Given the description of an element on the screen output the (x, y) to click on. 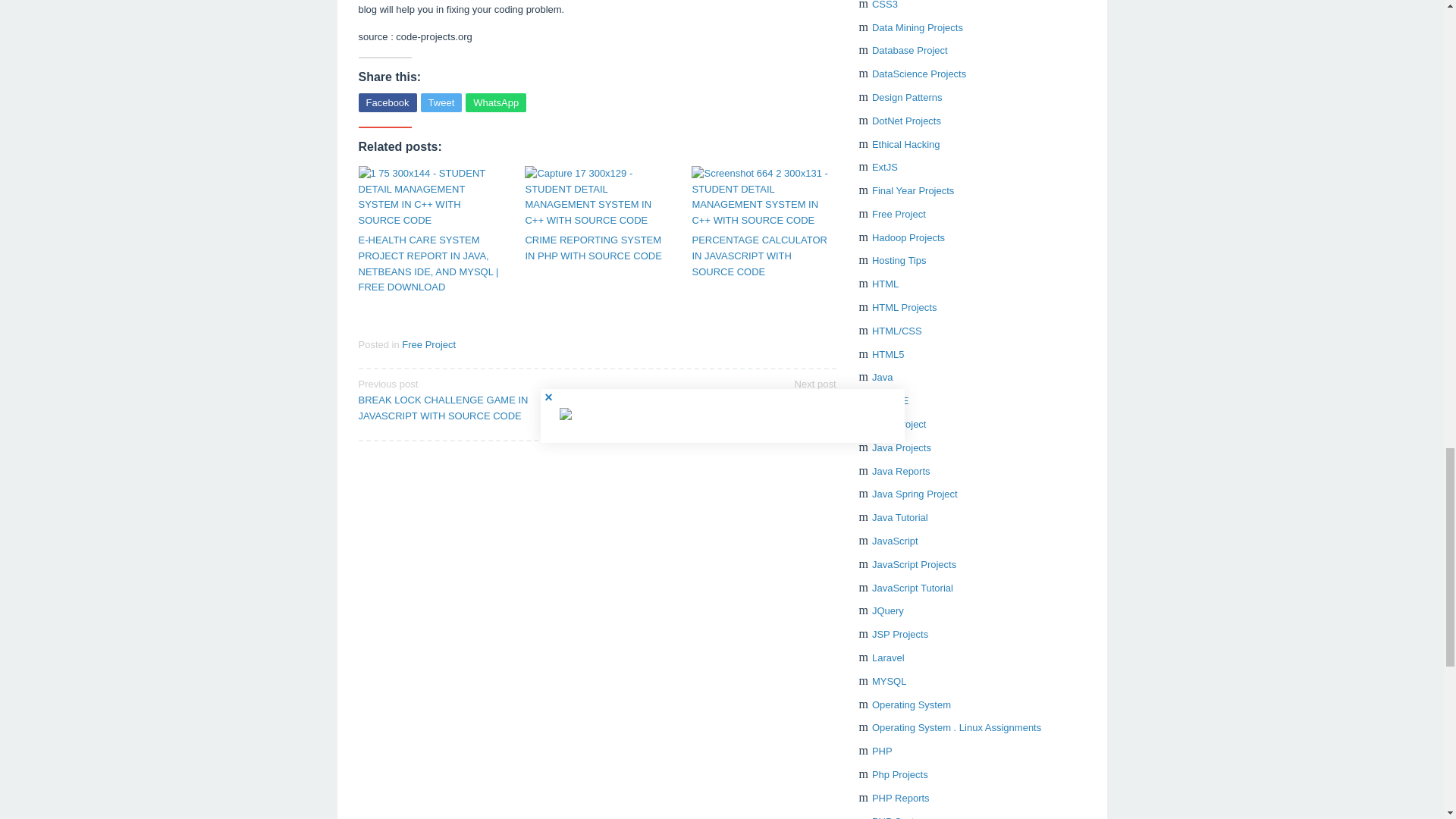
Facebook (387, 102)
Tweet (441, 102)
Free Project (428, 344)
Tweet this (441, 102)
WhatsApp this (495, 102)
Permalink to: CRIME REPORTING SYSTEM IN PHP WITH SOURCE CODE (596, 197)
PERCENTAGE CALCULATOR IN JAVASCRIPT WITH SOURCE CODE (763, 256)
Permalink to: CRIME REPORTING SYSTEM IN PHP WITH SOURCE CODE (596, 248)
WhatsApp (495, 102)
Share this (387, 102)
CRIME REPORTING SYSTEM IN PHP WITH SOURCE CODE (596, 248)
